Given the description of an element on the screen output the (x, y) to click on. 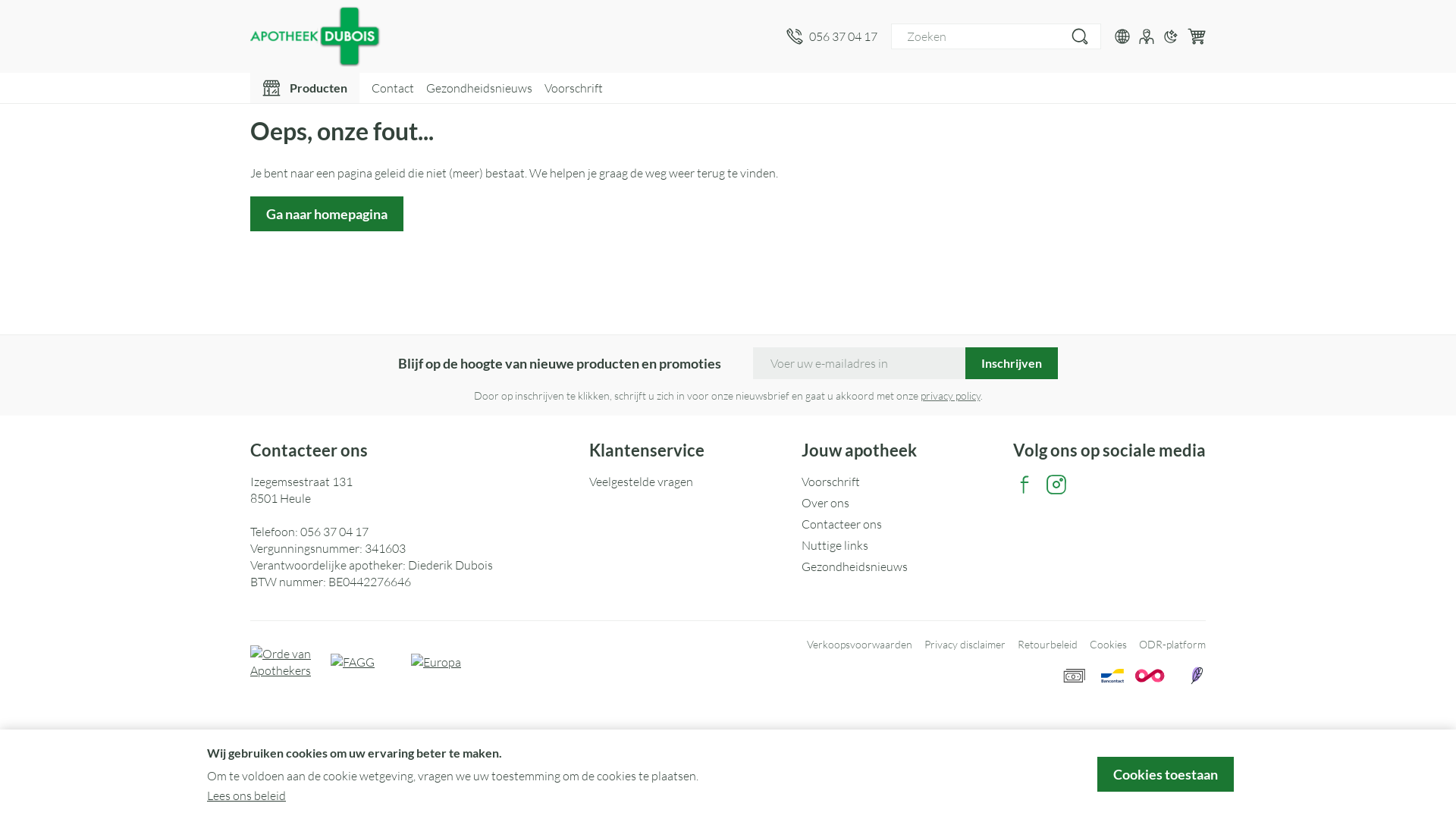
ODR-platform Element type: text (1172, 644)
056 37 04 17 Element type: text (831, 36)
Instagram Element type: hover (1055, 484)
Klant menu Element type: text (1146, 35)
Verkoopsvoorwaarden Element type: text (859, 644)
Veelgestelde vragen Element type: text (688, 481)
Inschrijven Element type: text (1011, 363)
Contact Element type: text (392, 87)
Ga naar homepagina Element type: text (326, 213)
Talen Element type: text (1121, 35)
Lees ons beleid Element type: text (246, 795)
Facebook Element type: hover (1024, 484)
Voorschrift Element type: text (573, 87)
Cookies toestaan Element type: text (1165, 773)
Gezondheidsnieuws Element type: text (901, 566)
Nuttige links Element type: text (901, 544)
privacy policy Element type: text (950, 395)
Apotheek Dubois Element type: hover (322, 36)
Contacteer ons Element type: text (901, 523)
Voorschrift Element type: text (901, 481)
Winkelwagen Element type: text (1196, 36)
Over ons Element type: text (901, 502)
Retourbeleid Element type: text (1047, 644)
Zoeken Element type: text (1079, 36)
Privacy disclaimer Element type: text (964, 644)
Donkere modus Element type: text (1170, 35)
056 37 04 17 Element type: text (334, 531)
Cookies Element type: text (1107, 644)
Gezondheidsnieuws Element type: text (479, 87)
Apotheek Dubois Element type: hover (512, 36)
